Given the description of an element on the screen output the (x, y) to click on. 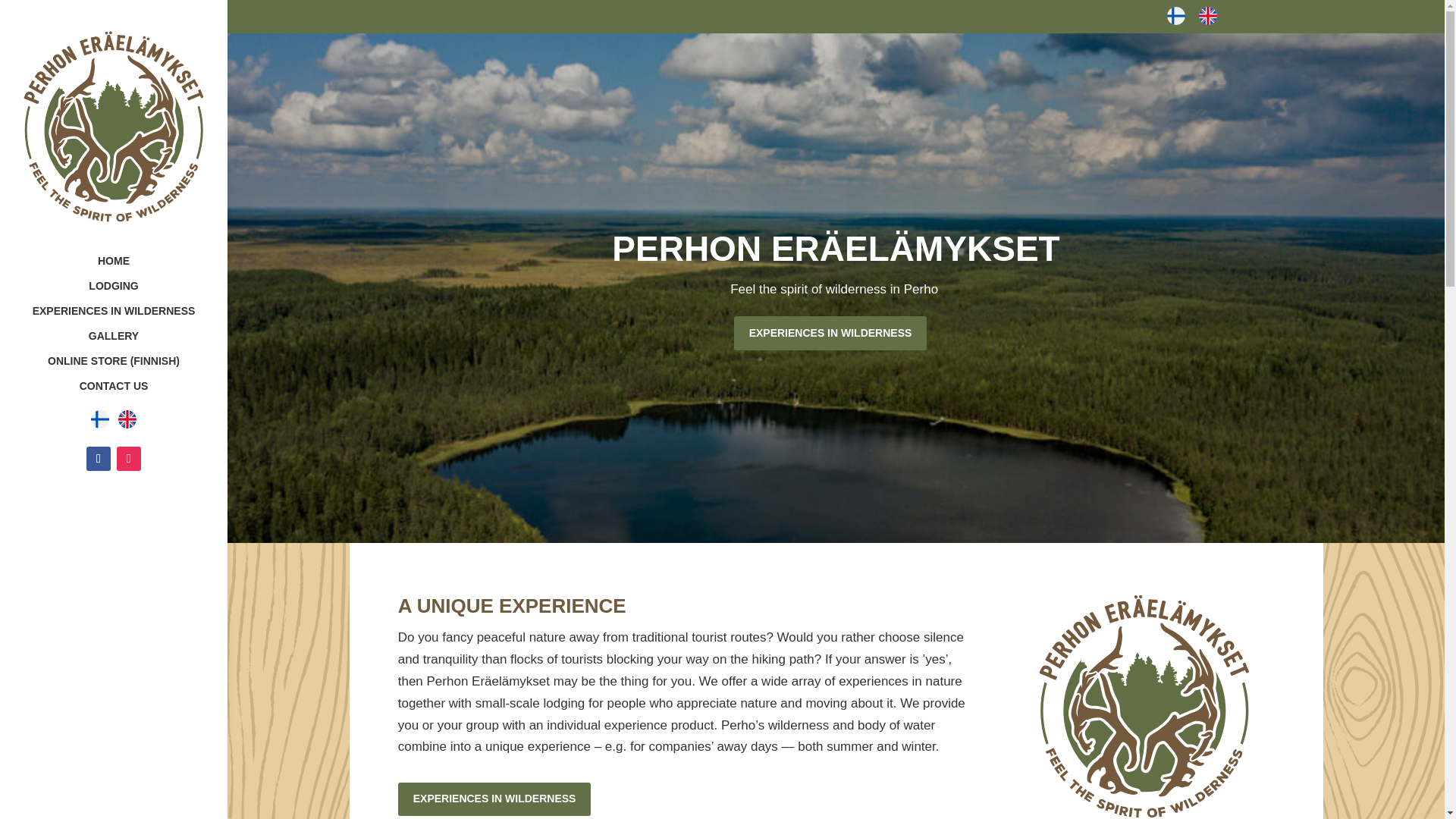
LODGING (128, 292)
HOME (128, 267)
Follow on Instagram (128, 458)
EXPERIENCES IN WILDERNESS (128, 317)
CONTACT US (128, 395)
GALLERY (128, 342)
Follow on Facebook (97, 458)
